Given the description of an element on the screen output the (x, y) to click on. 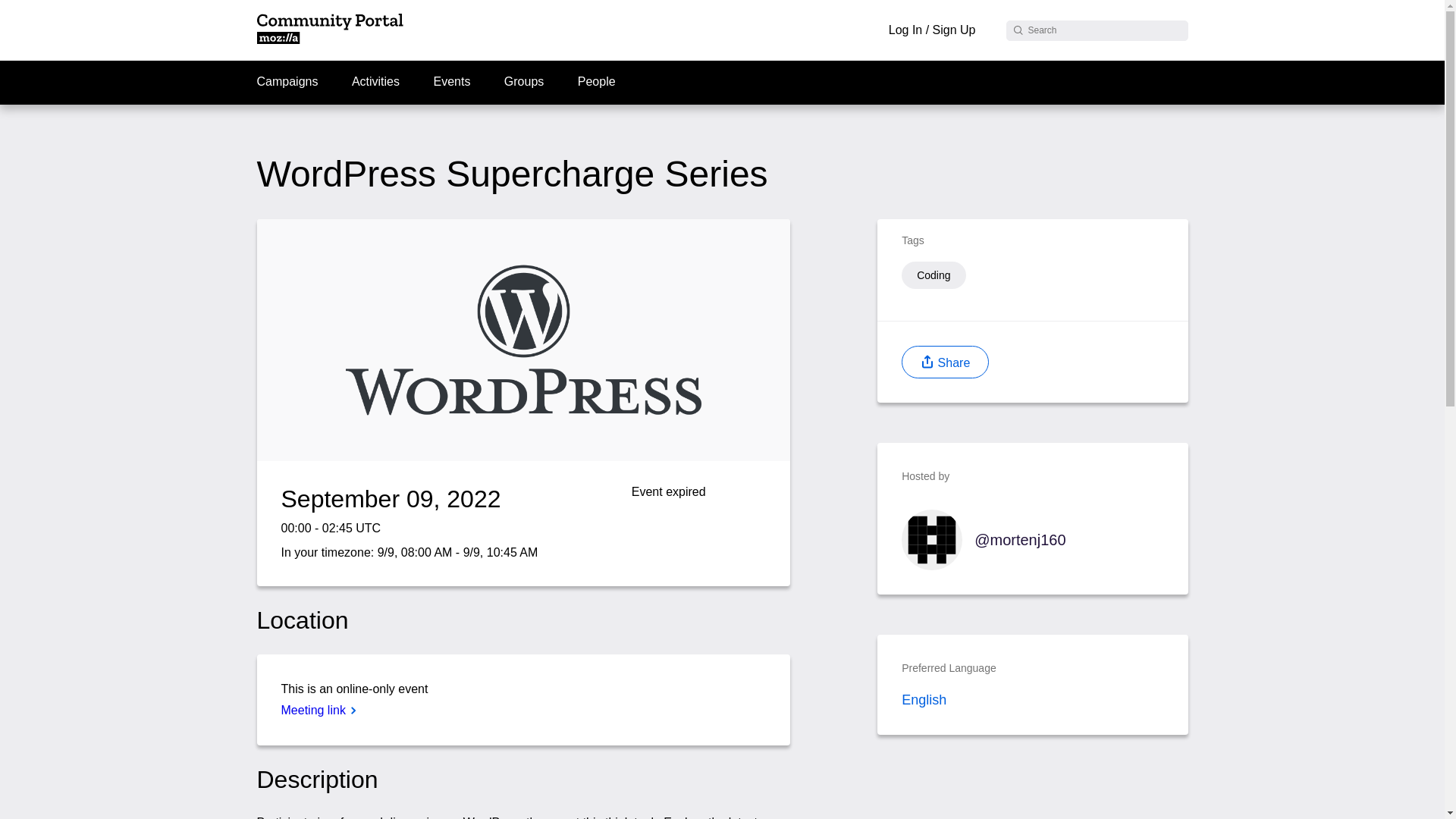
Meeting link (318, 709)
Activities (375, 81)
Groups (524, 81)
Campaigns (293, 81)
People (596, 81)
Events (450, 81)
